Given the description of an element on the screen output the (x, y) to click on. 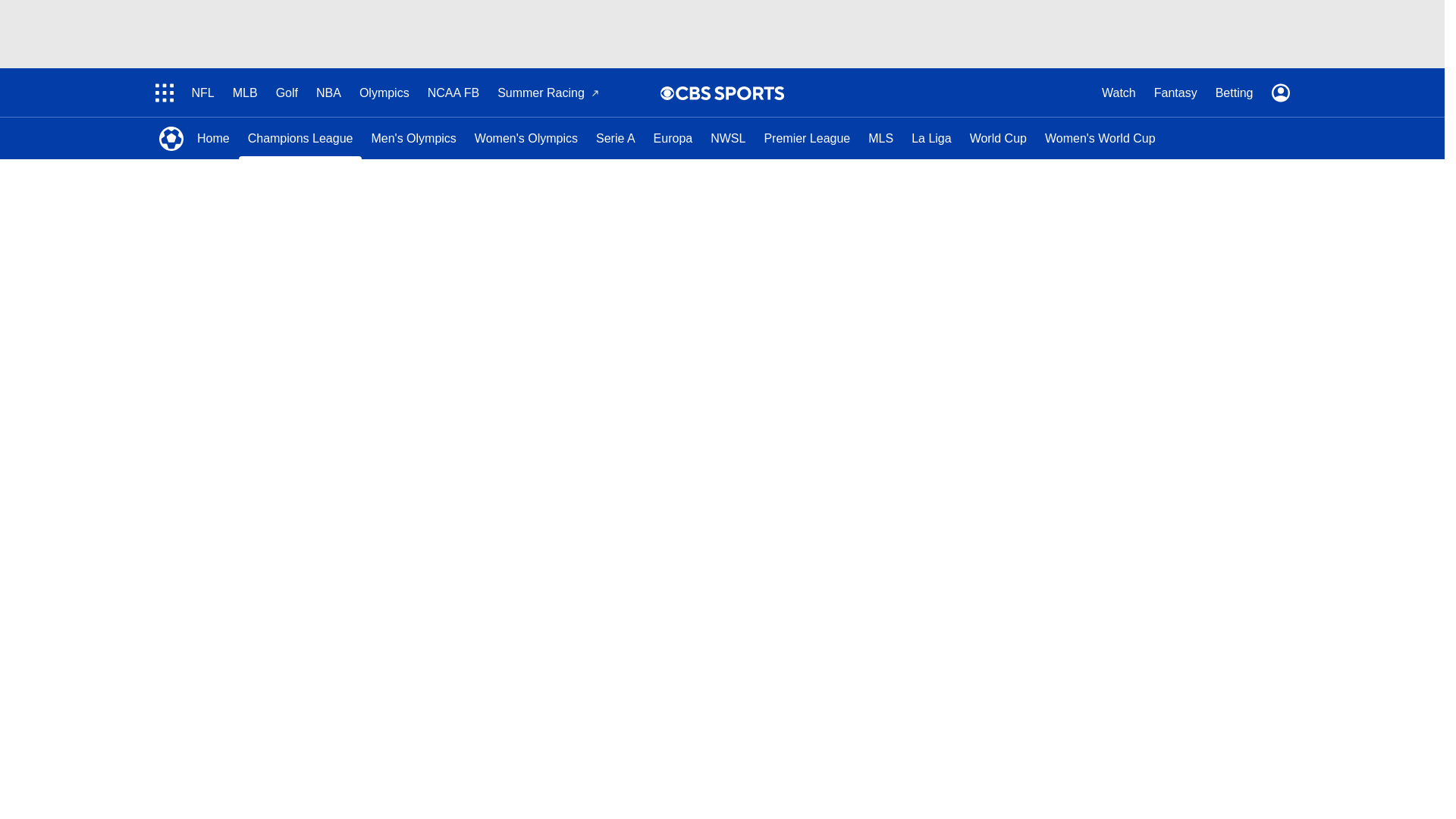
CBS Eye (667, 92)
SportsSoccer (170, 137)
CBS Logo (729, 92)
